Given the description of an element on the screen output the (x, y) to click on. 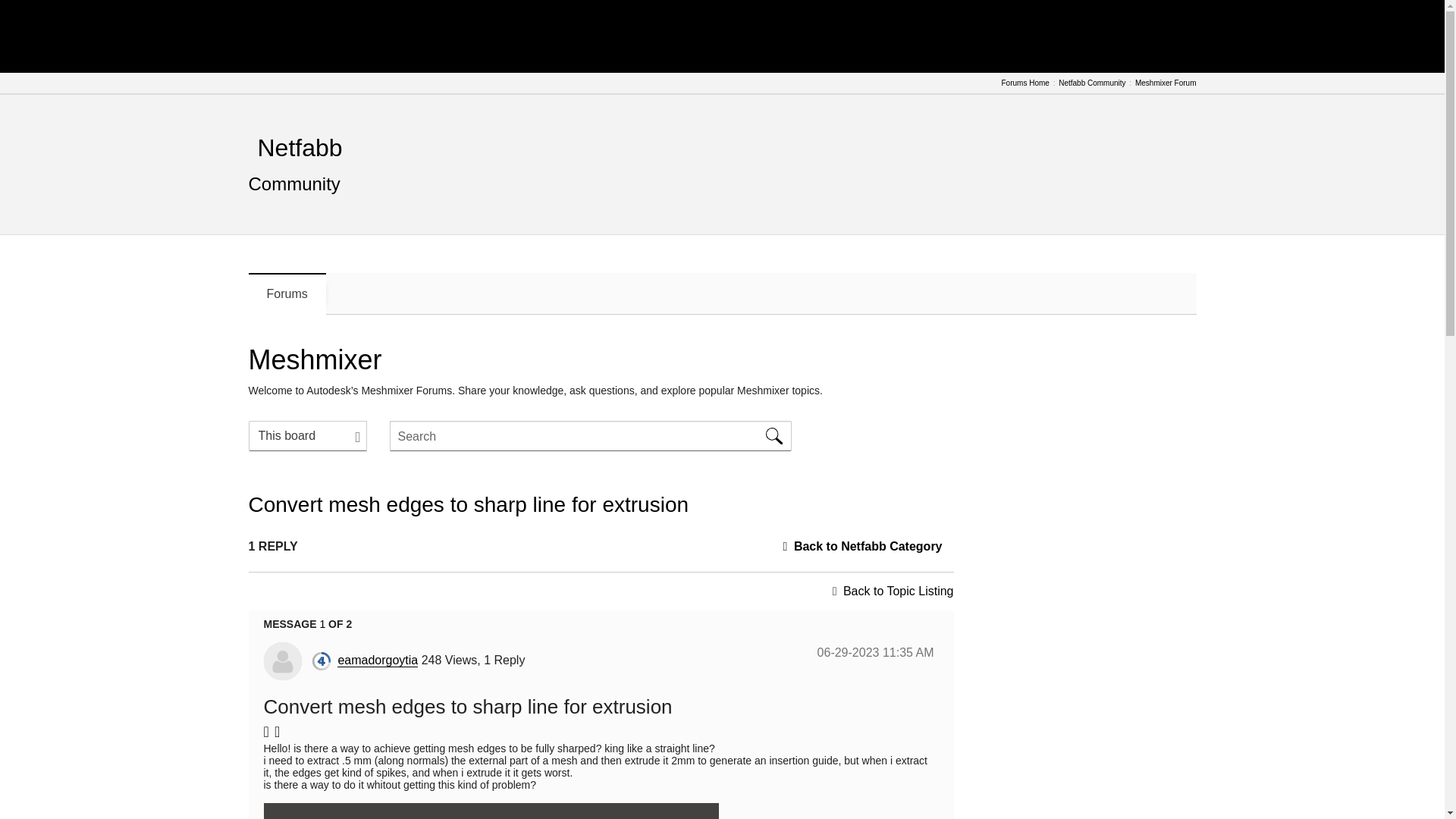
Forums Home (1024, 82)
Search (774, 435)
eamadorgoytia (282, 661)
Meshmixer Forum (1165, 82)
Forums (287, 293)
Back to Netfabb Category (867, 545)
Search (774, 435)
Back to Topic Listing (898, 590)
Netfabb Community (1091, 82)
Search (591, 435)
eamadorgoytia (377, 660)
Explorer (321, 660)
Search (774, 435)
Netfabb (299, 147)
Search Granularity (307, 435)
